Given the description of an element on the screen output the (x, y) to click on. 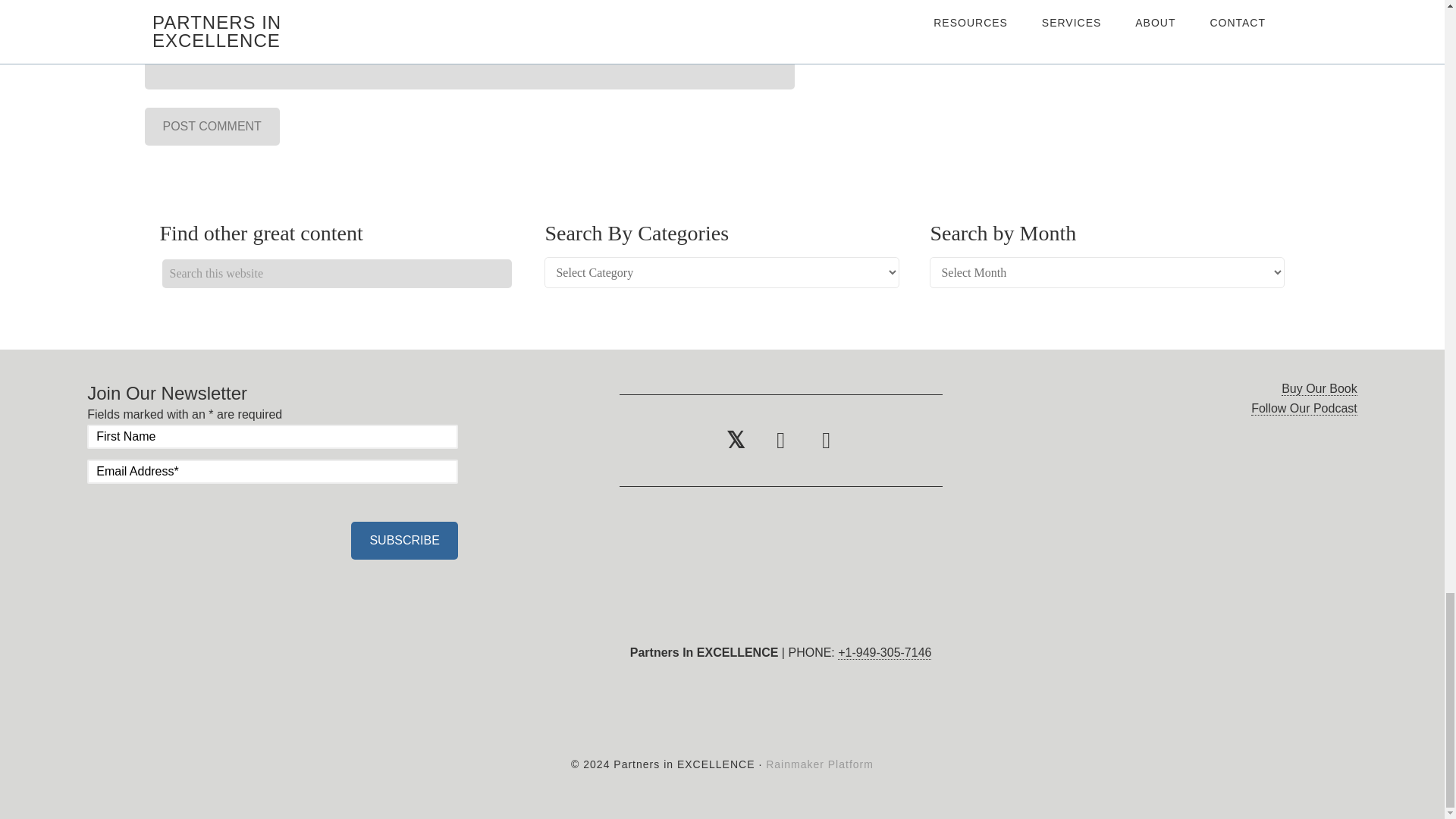
Rainmaker Platform (819, 764)
Subscribe (403, 540)
Buy Our Book (1318, 388)
Post Comment (211, 126)
Follow Our Podcast (1303, 408)
Post Comment (211, 126)
LinkedIn (780, 440)
Subscribe (403, 540)
Twitter (735, 440)
